Given the description of an element on the screen output the (x, y) to click on. 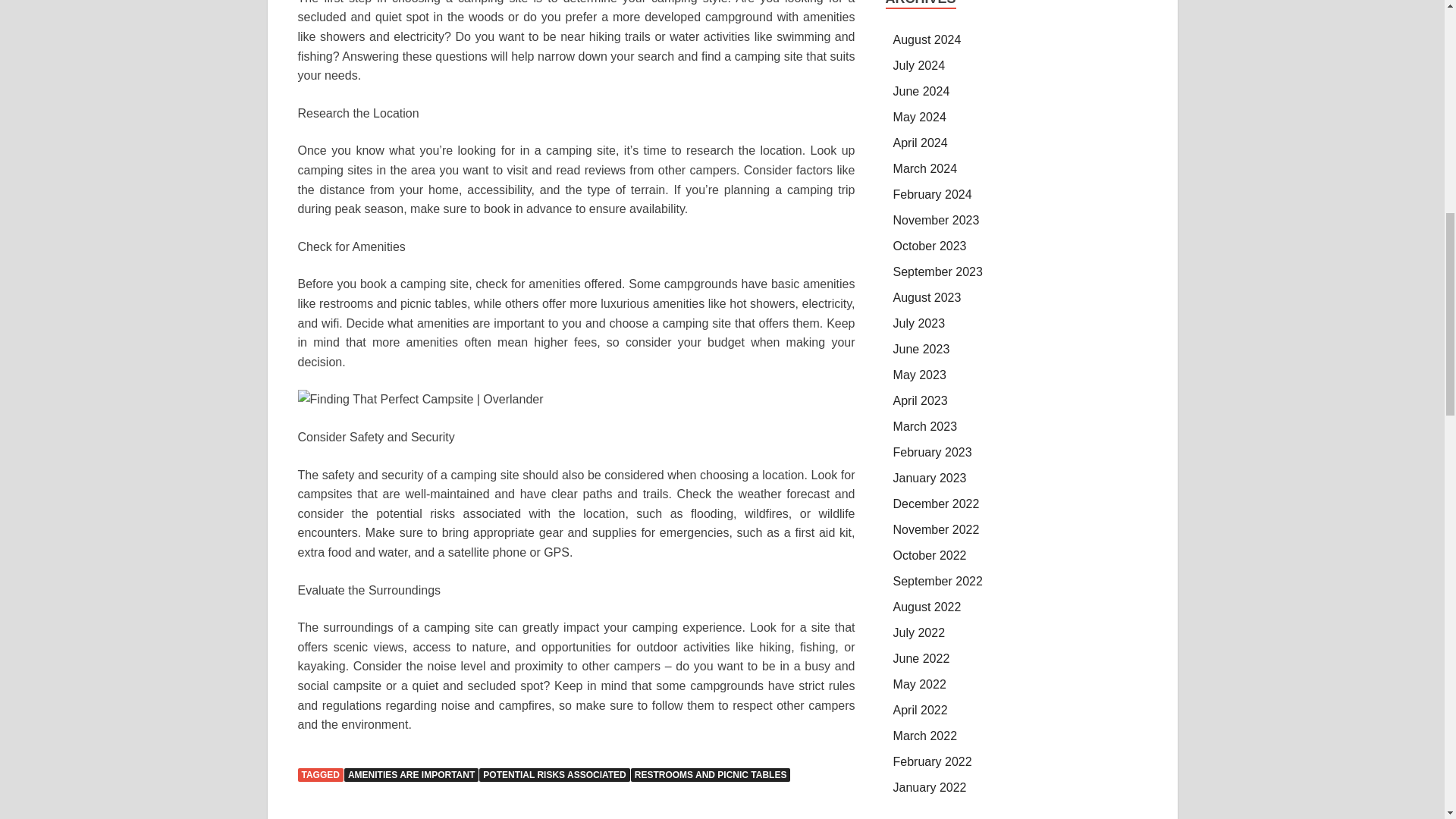
AMENITIES ARE IMPORTANT (411, 775)
POTENTIAL RISKS ASSOCIATED (553, 775)
RESTROOMS AND PICNIC TABLES (710, 775)
